Given the description of an element on the screen output the (x, y) to click on. 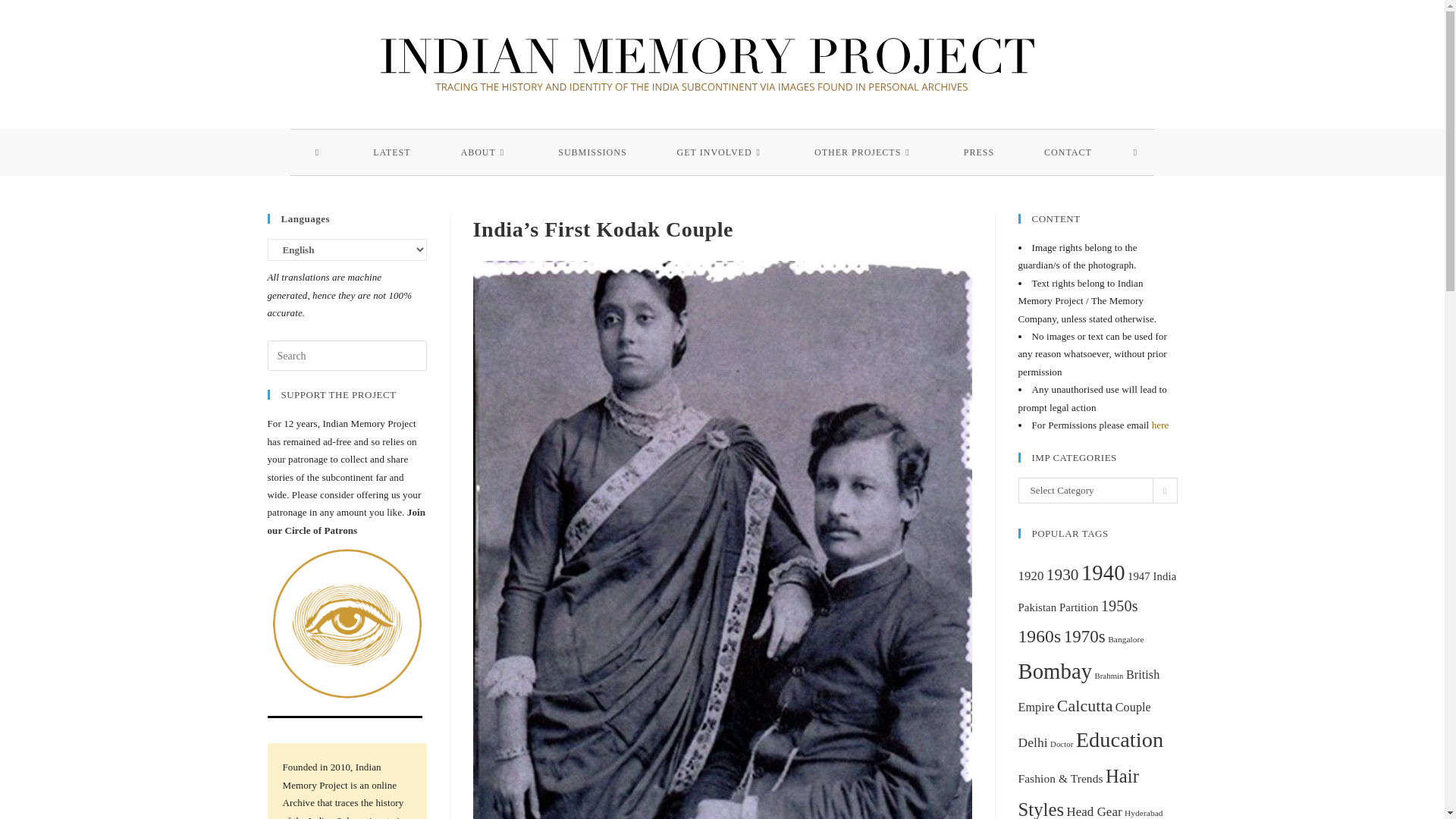
here (1160, 424)
CONTACT (1067, 152)
ABOUT (484, 152)
Join our Circle of Patrons (345, 520)
1930 (1062, 574)
LATEST (391, 152)
1920 (1030, 575)
PRESS (979, 152)
SUBMISSIONS (591, 152)
OTHER PROJECTS (864, 152)
GET INVOLVED (720, 152)
